Given the description of an element on the screen output the (x, y) to click on. 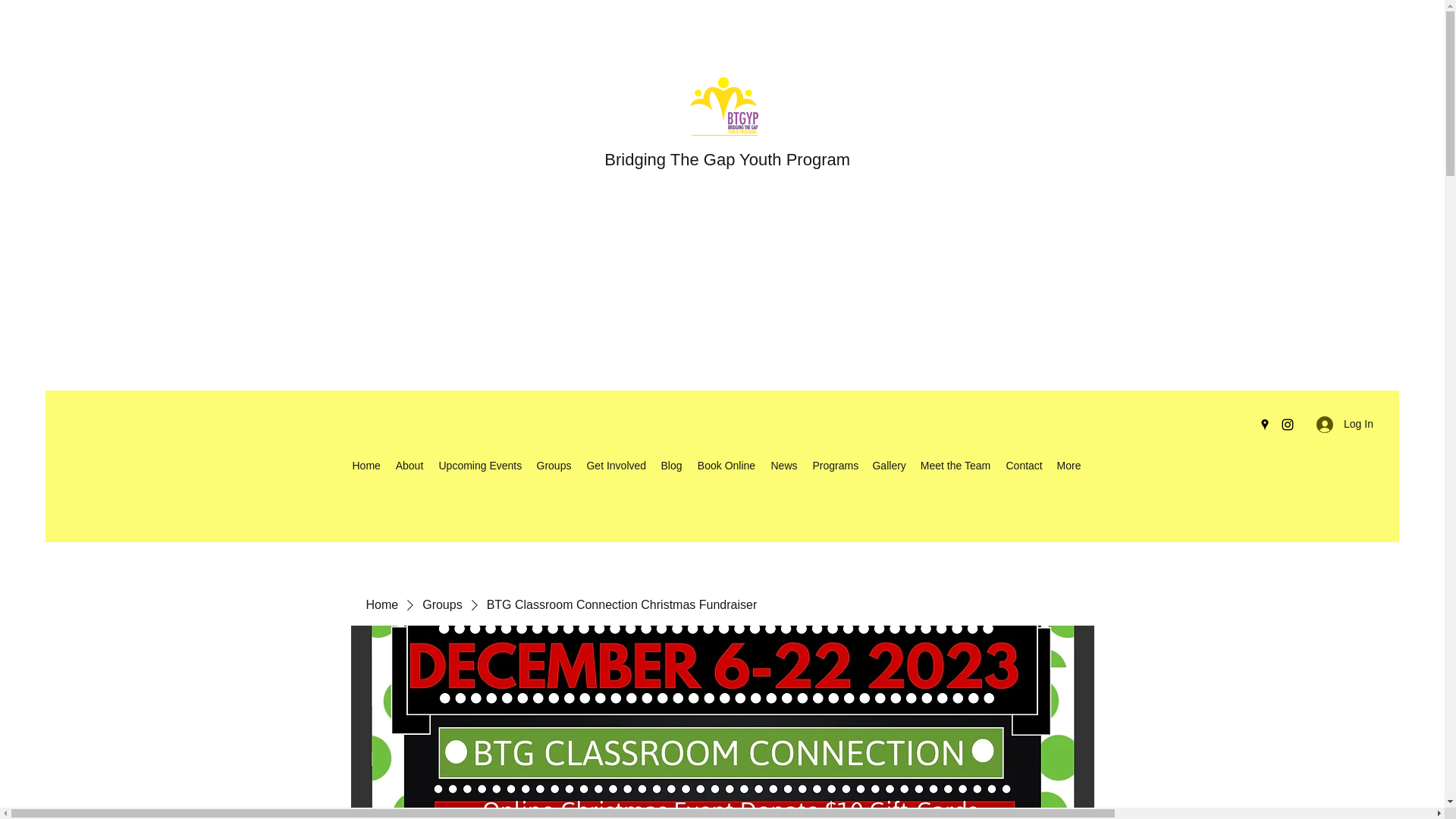
Bridging The Gap Youth Program (727, 158)
About (408, 465)
Meet the Team (954, 465)
Book Online (725, 465)
Upcoming Events (479, 465)
Home (365, 465)
Programs (834, 465)
Log In (1345, 424)
Home (381, 605)
Get Involved (615, 465)
Gallery (888, 465)
Groups (553, 465)
Contact (1022, 465)
Groups (441, 605)
